Given the description of an element on the screen output the (x, y) to click on. 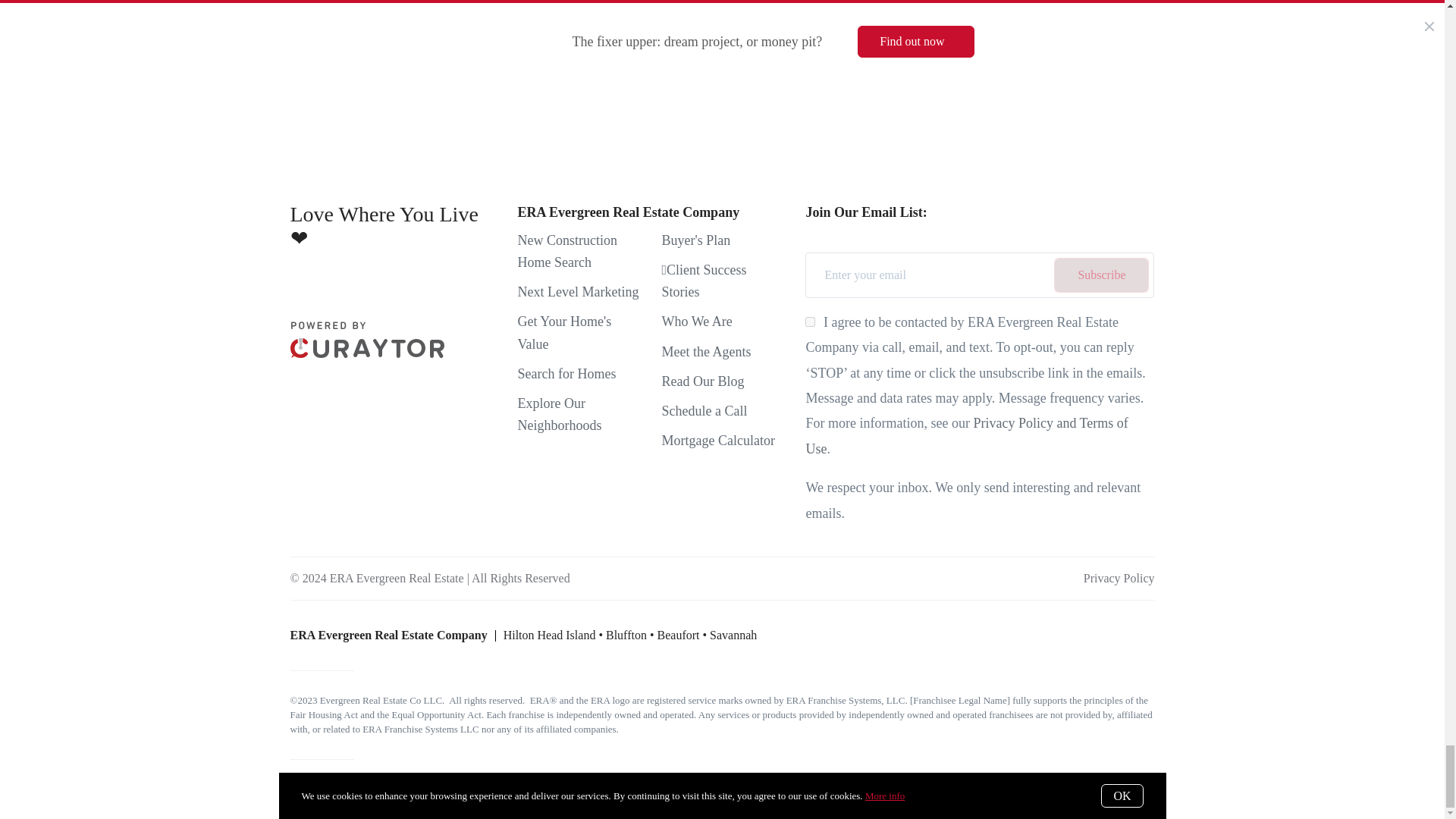
curaytor-horizontal (366, 339)
on (810, 321)
